Given the description of an element on the screen output the (x, y) to click on. 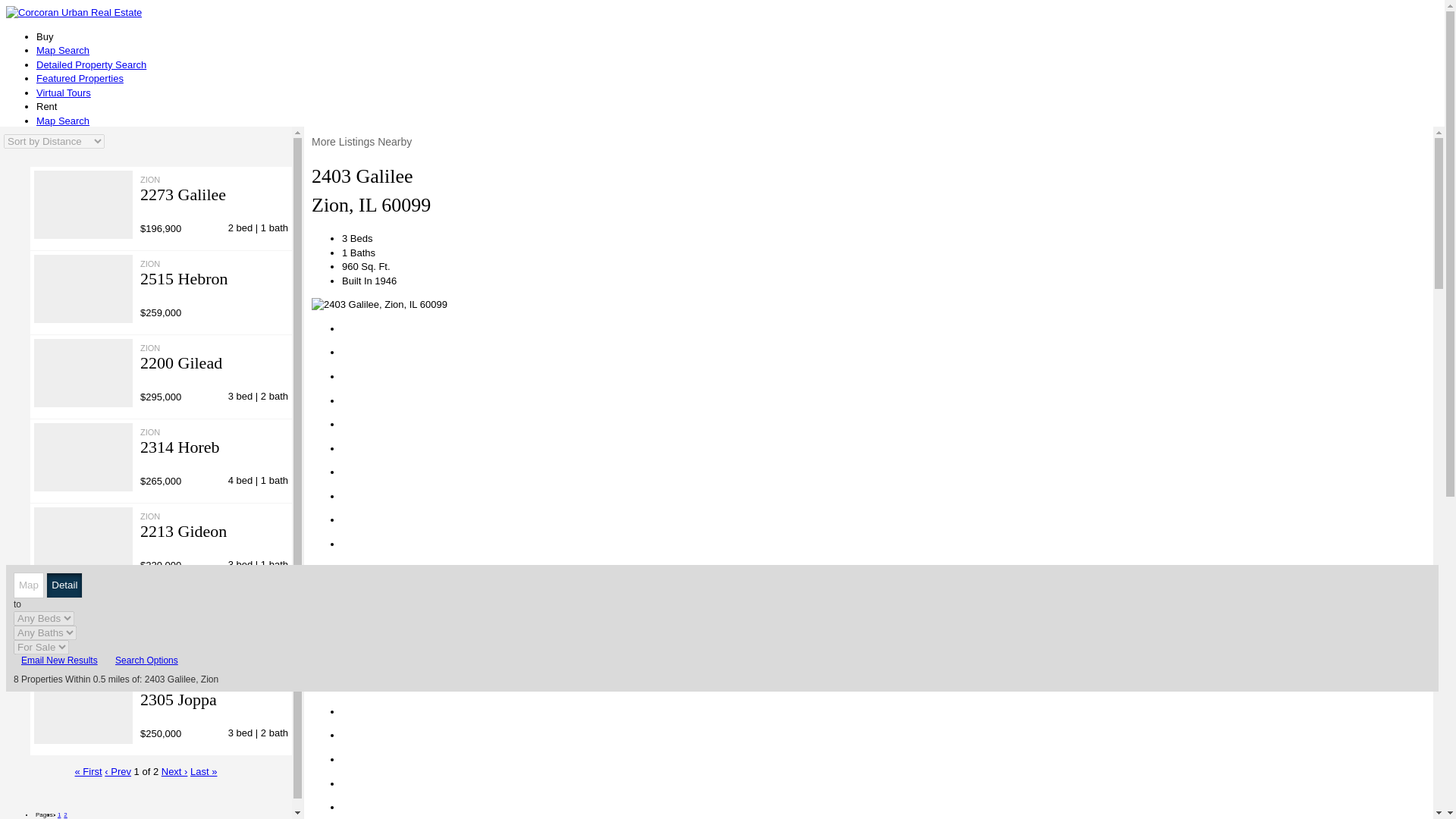
Our Blog (55, 204)
Blog (46, 531)
Rent (329, 556)
Register (54, 283)
Featured Rentals (104, 446)
In The News (63, 219)
Featured Properties (110, 376)
Map Search (92, 348)
Featured Rentals (74, 148)
Careers (83, 488)
Detailed Property Search (121, 361)
LOG IN (33, 318)
Buy (293, 556)
Our Blog (85, 502)
In The News (94, 516)
